Given the description of an element on the screen output the (x, y) to click on. 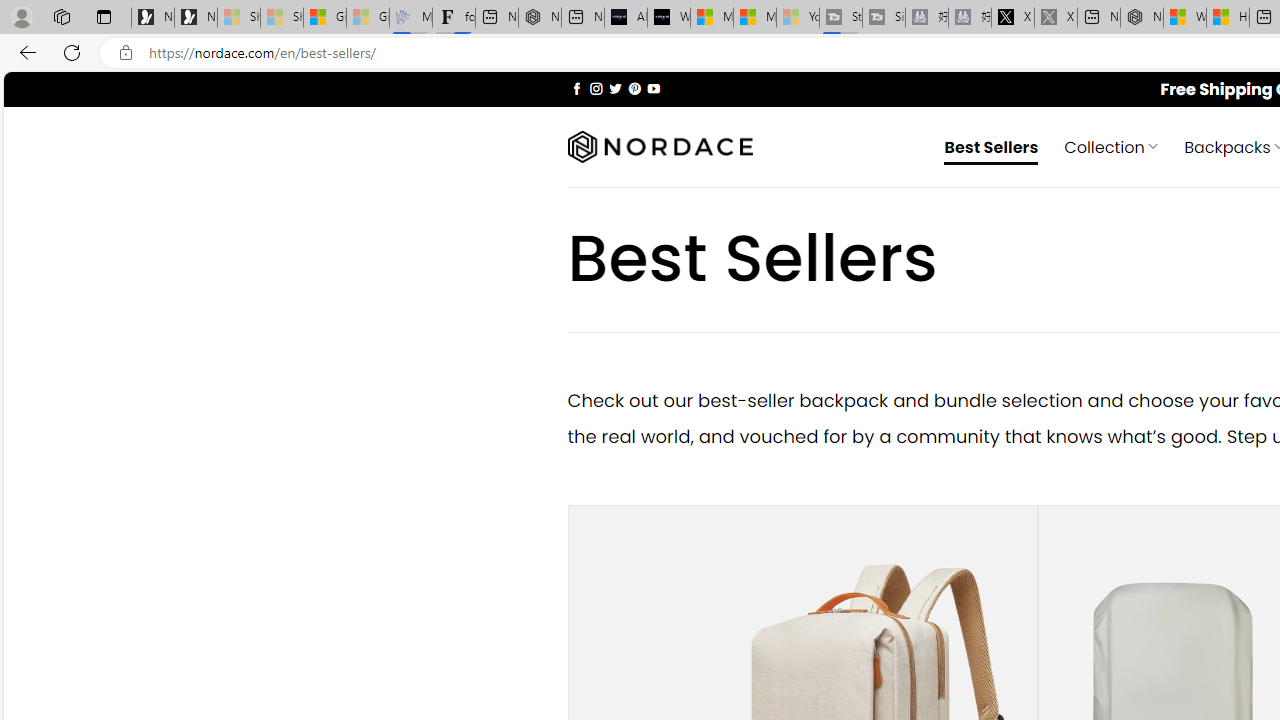
AI Voice Changer for PC and Mac - Voice.ai (625, 17)
Follow on Pinterest (634, 88)
Streaming Coverage | T3 - Sleeping (840, 17)
 Best Sellers (991, 146)
X (1013, 17)
